Given the description of an element on the screen output the (x, y) to click on. 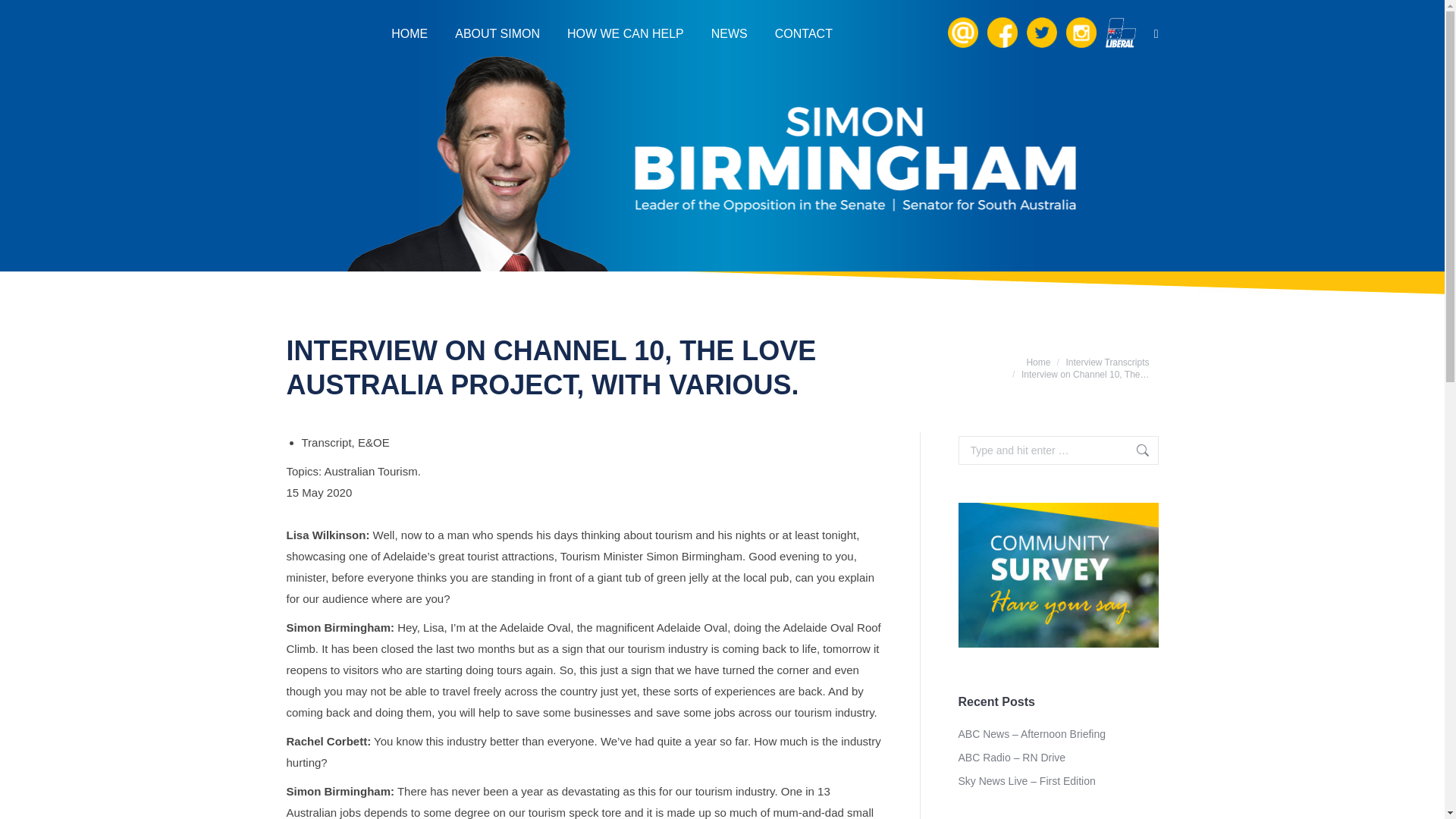
Interview Transcripts (1106, 361)
Home (1037, 361)
ABOUT SIMON (497, 33)
HOW WE CAN HELP (625, 33)
Go! (1135, 450)
NEWS (729, 33)
CONTACT (803, 33)
Go! (1135, 450)
HOME (409, 33)
Go! (23, 15)
